Given the description of an element on the screen output the (x, y) to click on. 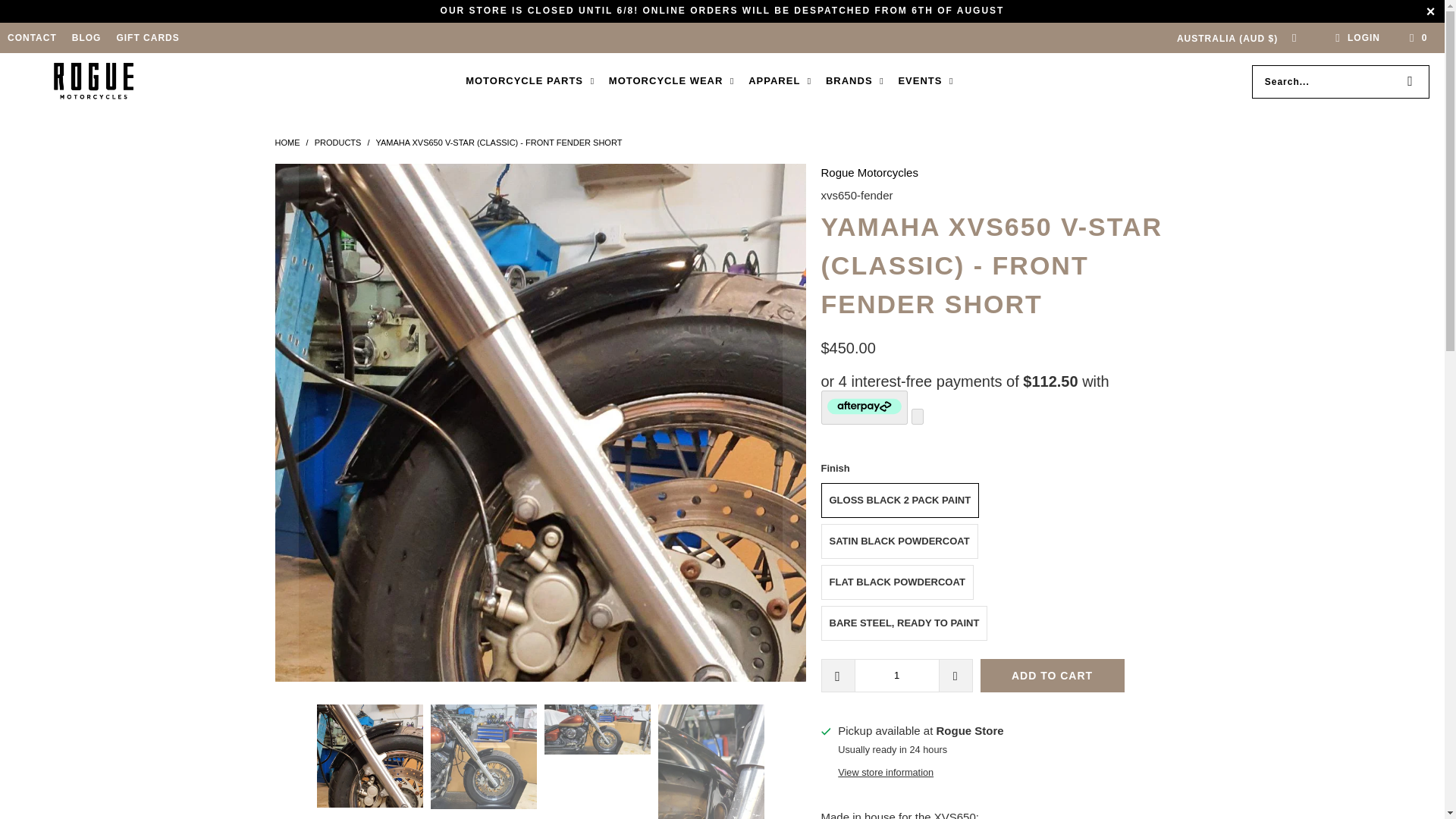
Rogue Motorcycles (93, 81)
Products (339, 142)
Rogue Motorcycles (288, 142)
1 (896, 674)
My Account  (1355, 37)
